Given the description of an element on the screen output the (x, y) to click on. 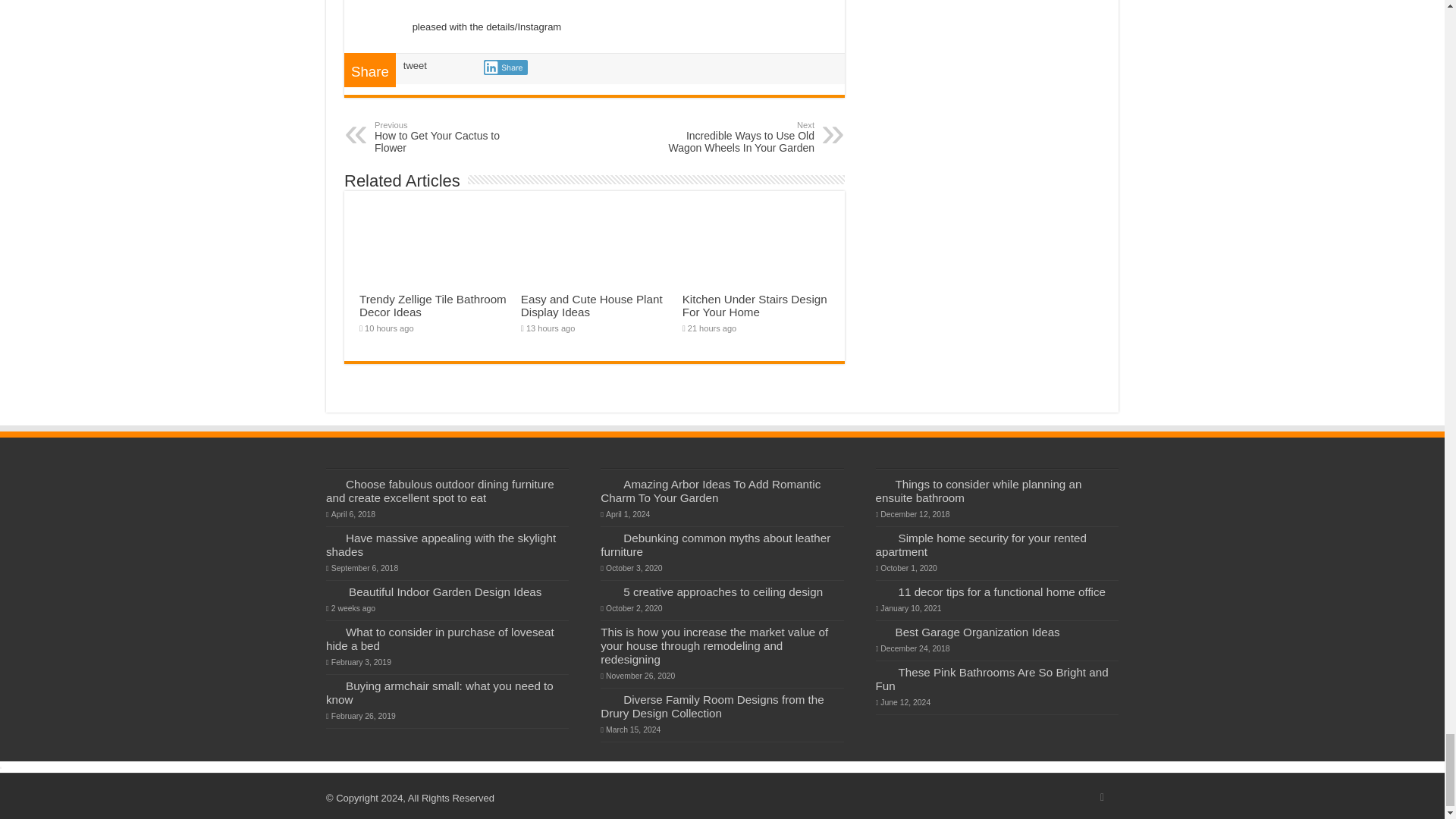
tweet (414, 65)
Trendy Zellige Tile Bathroom Decor Ideas (736, 136)
Rss (432, 305)
Share (1102, 797)
